Given the description of an element on the screen output the (x, y) to click on. 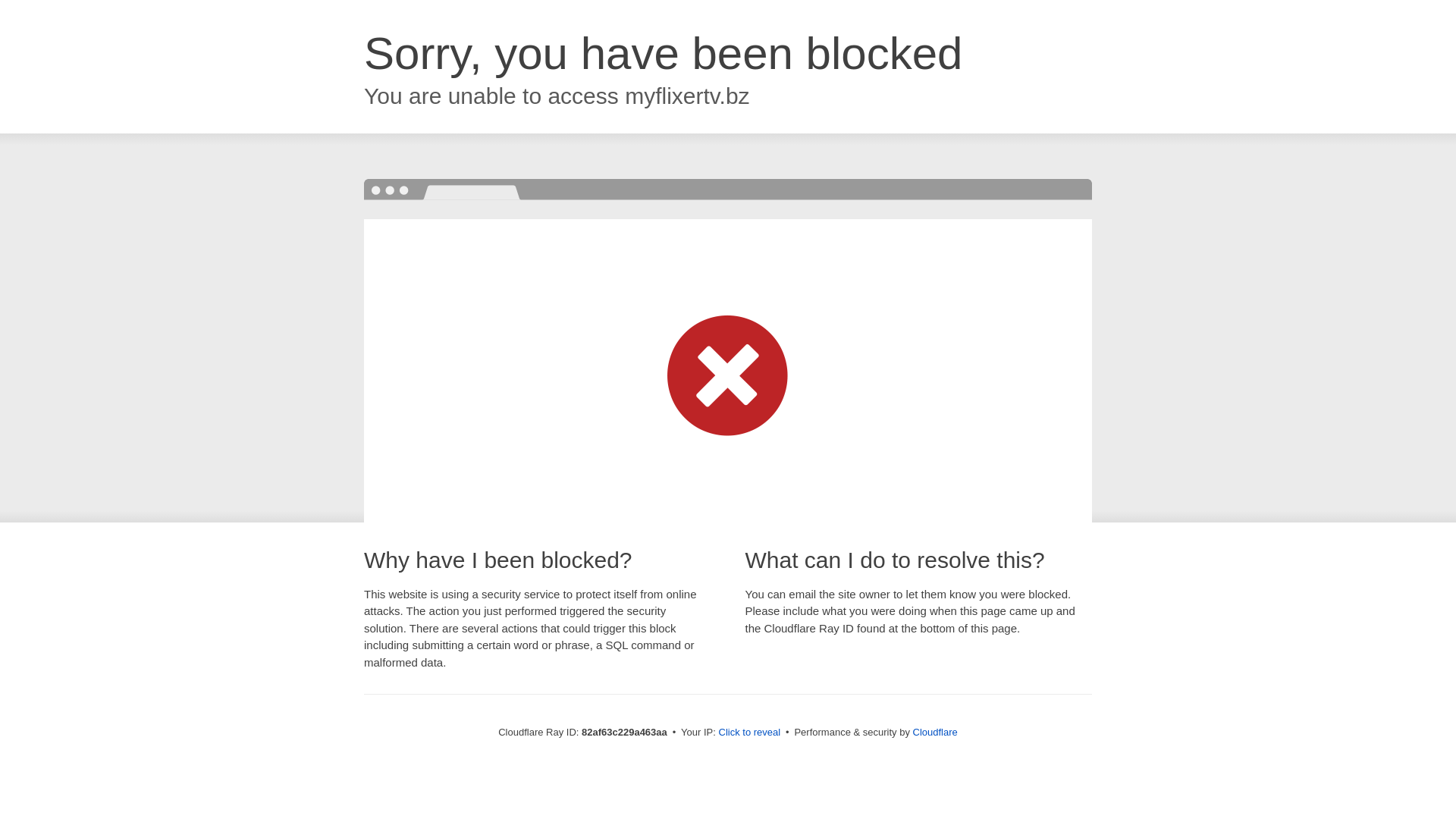
Cloudflare Element type: text (935, 731)
Click to reveal Element type: text (749, 732)
